Given the description of an element on the screen output the (x, y) to click on. 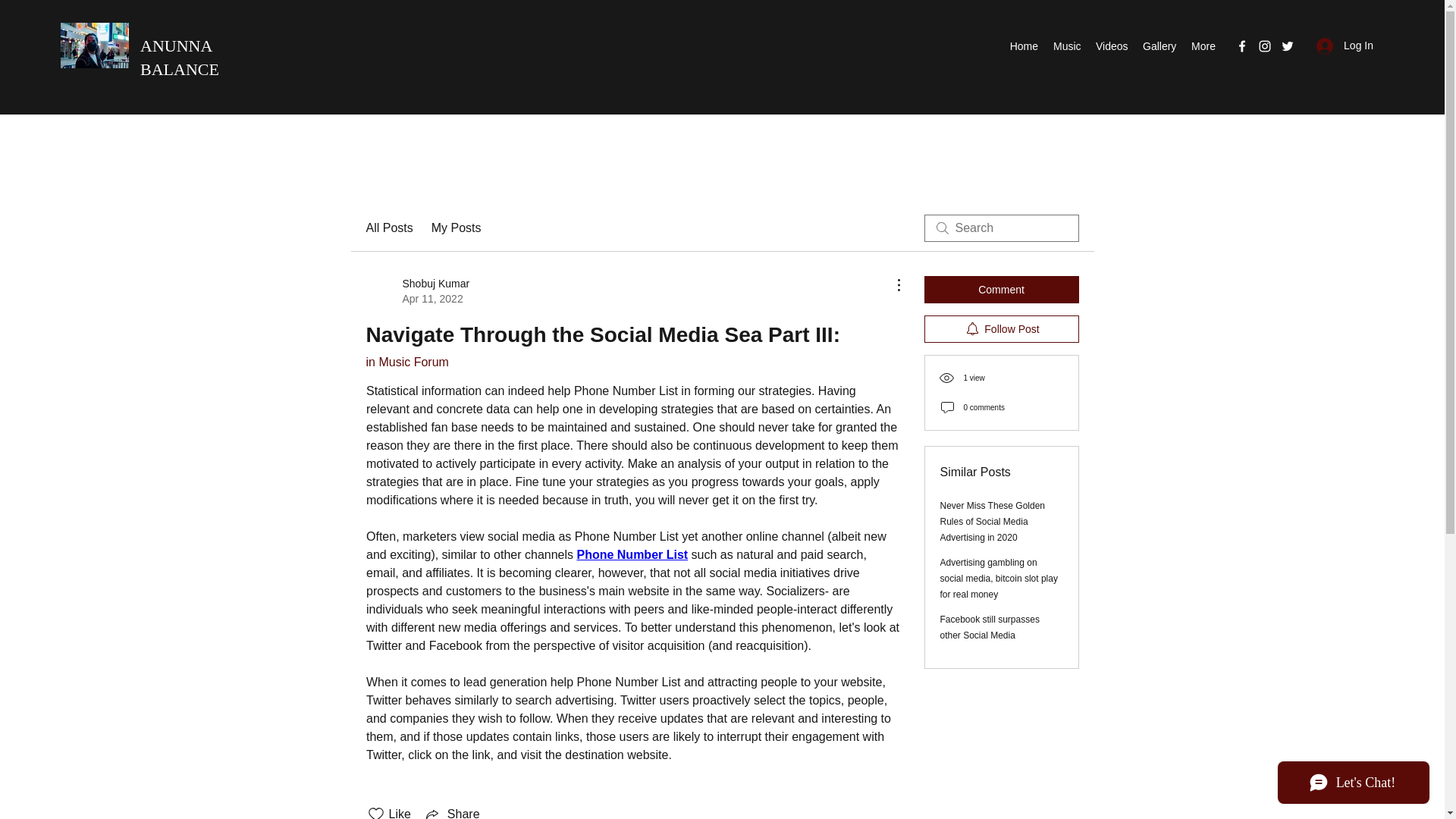
Log In (1345, 45)
Follow Post (1000, 329)
Music (1066, 46)
All Posts (416, 291)
in Music Forum (388, 228)
ANUNNA BALANCE (406, 361)
Share (179, 57)
Videos (451, 812)
Gallery (1111, 46)
Phone Number List (1158, 46)
Comment (631, 554)
Home (1000, 289)
Facebook still surpasses other Social Media (1023, 46)
